Given the description of an element on the screen output the (x, y) to click on. 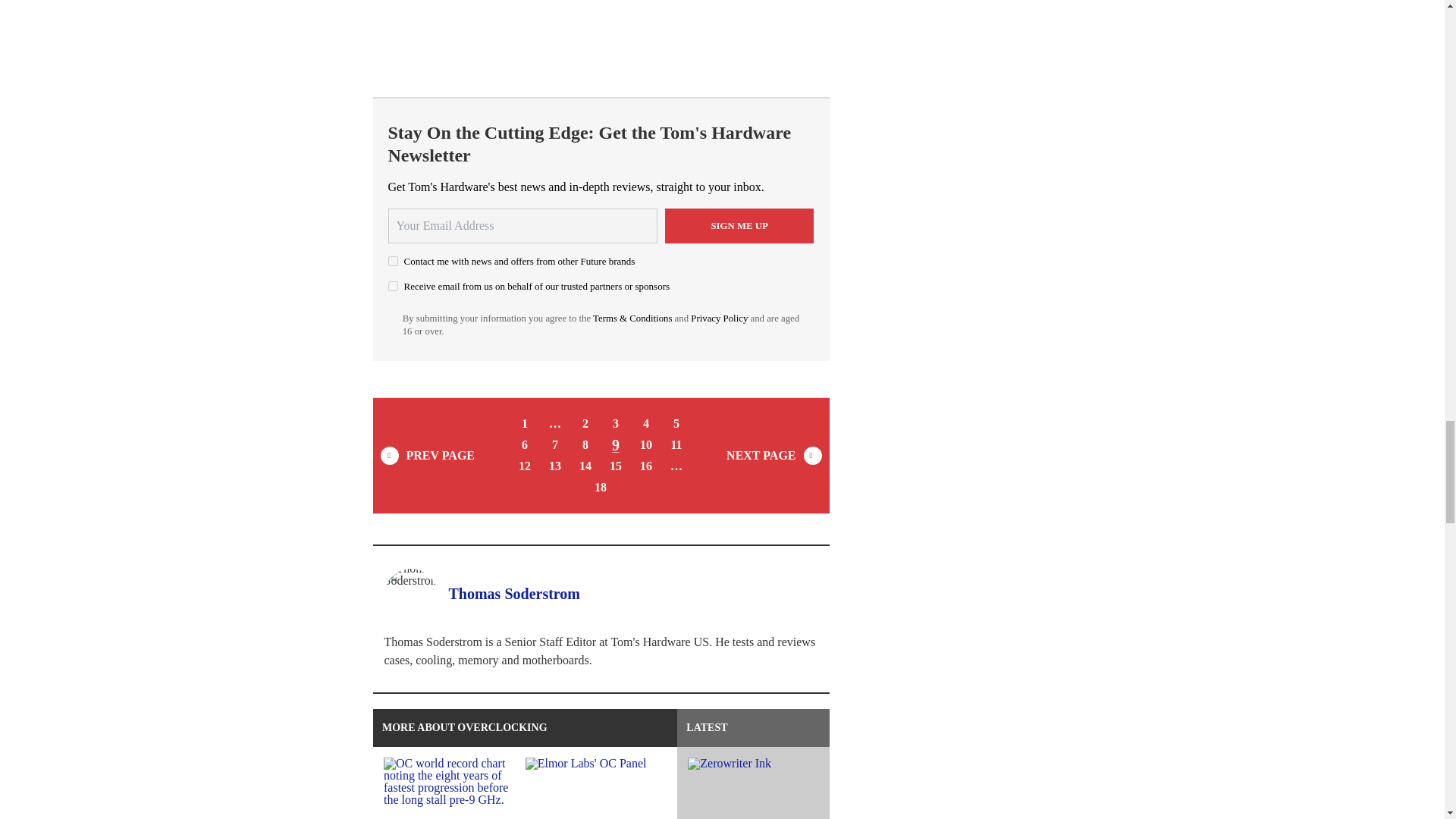
on (392, 286)
on (392, 261)
Sign me up (739, 225)
